Given the description of an element on the screen output the (x, y) to click on. 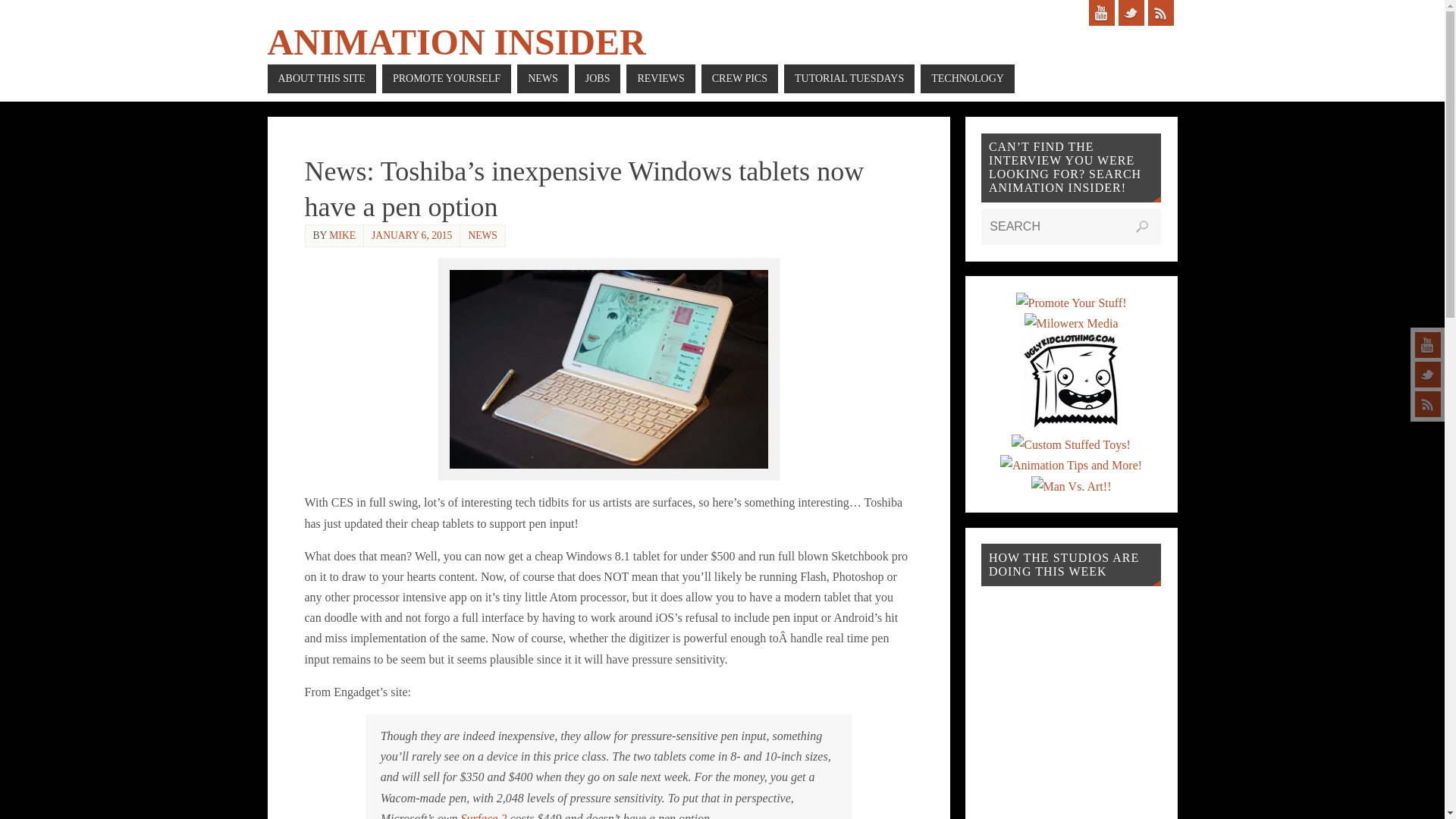
ANIMATION INSIDER (455, 42)
View all posts by Mike (342, 235)
Surface 2 (483, 815)
PROMOTE YOURSELF (446, 78)
NEWS (542, 78)
JOBS (598, 78)
Twitter (1130, 12)
MIKE (342, 235)
RSS (1428, 403)
CREW PICS (739, 78)
